Given the description of an element on the screen output the (x, y) to click on. 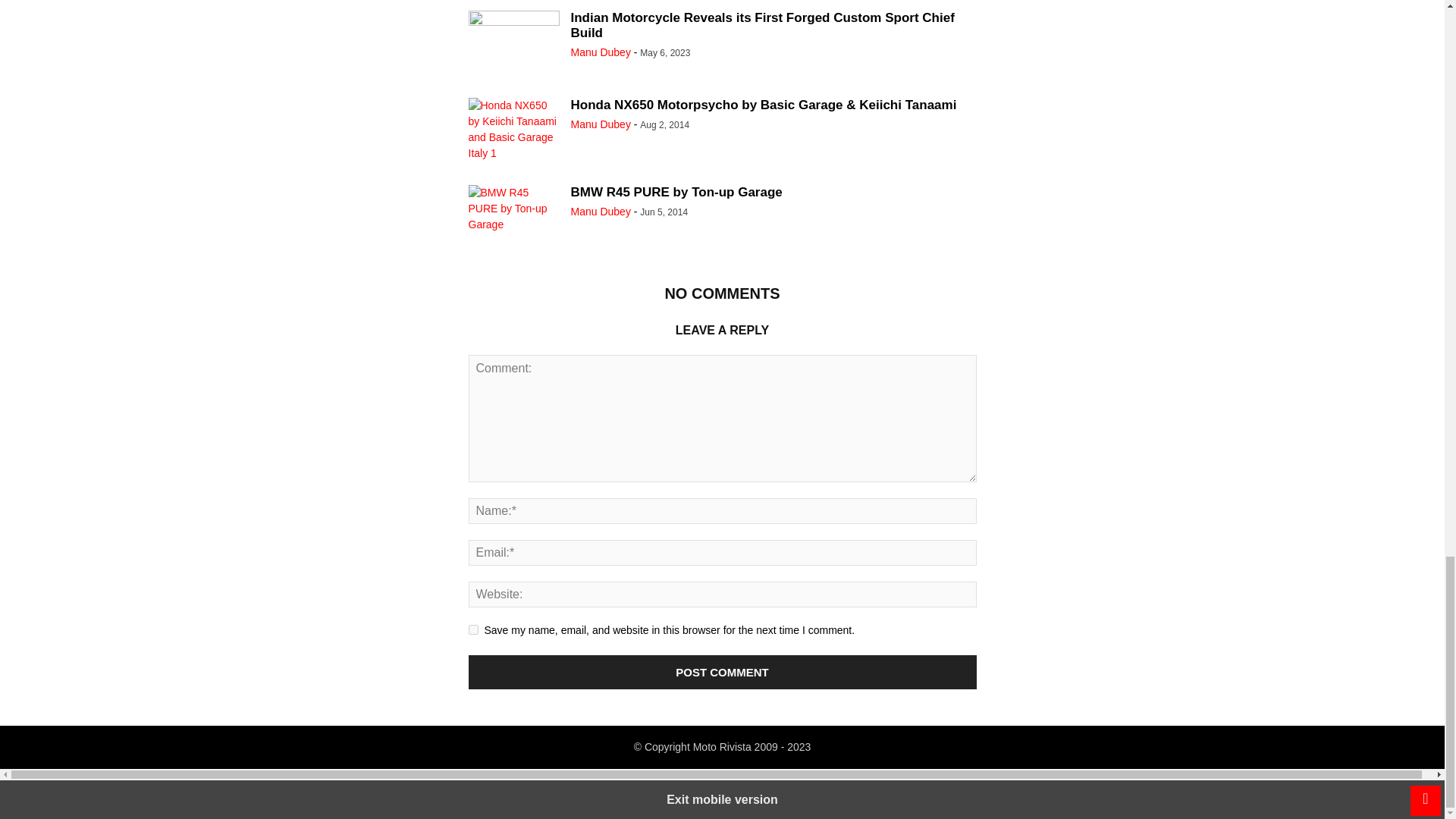
yes (473, 629)
BMW R45 PURE by Ton-up Garage (513, 219)
Post Comment (722, 672)
Manu Dubey (600, 51)
Post Comment (722, 672)
BMW R45 PURE by Ton-up Garage (675, 192)
Manu Dubey (600, 211)
Manu Dubey (600, 123)
